Given the description of an element on the screen output the (x, y) to click on. 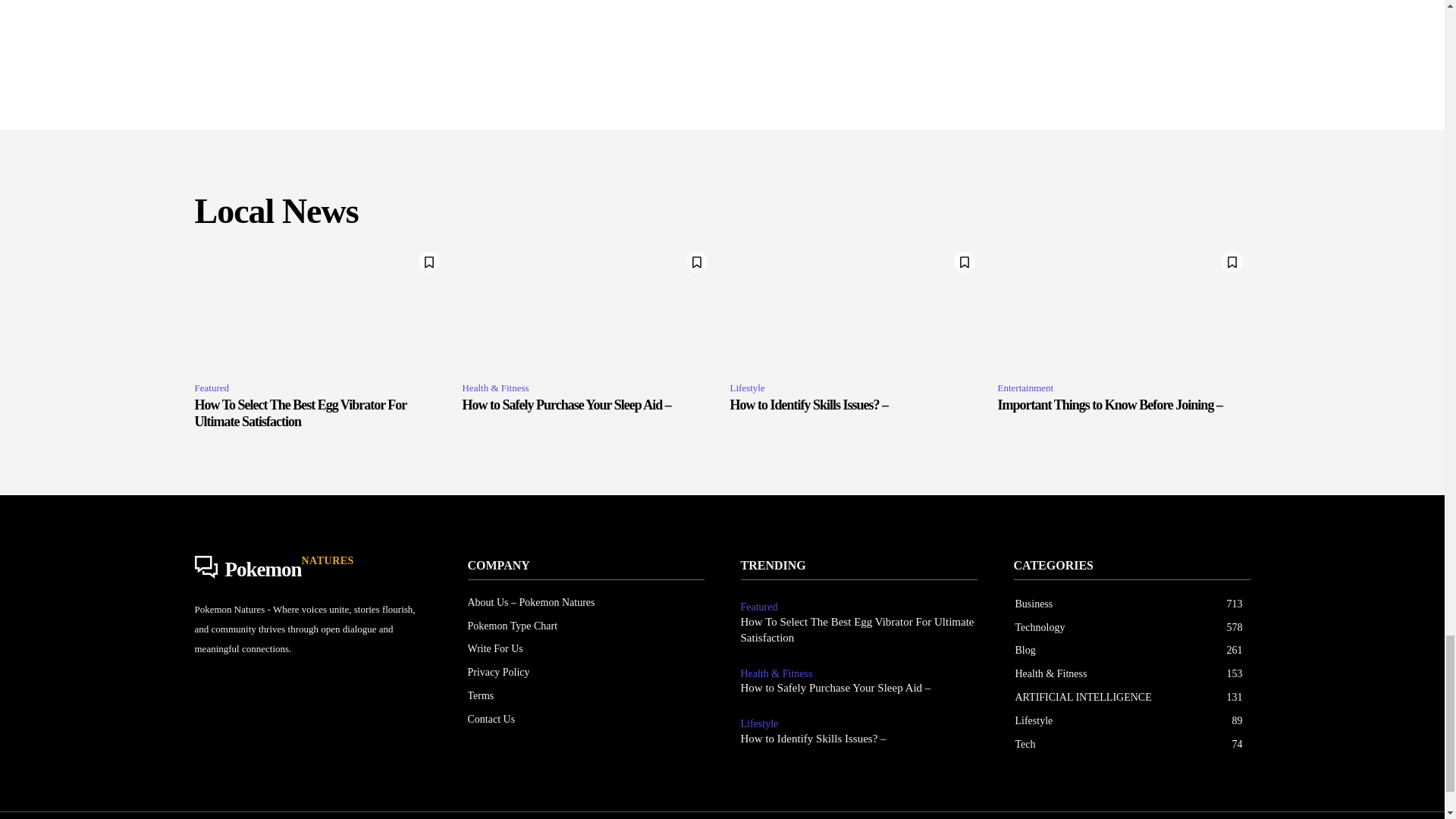
admin (547, 8)
